Given the description of an element on the screen output the (x, y) to click on. 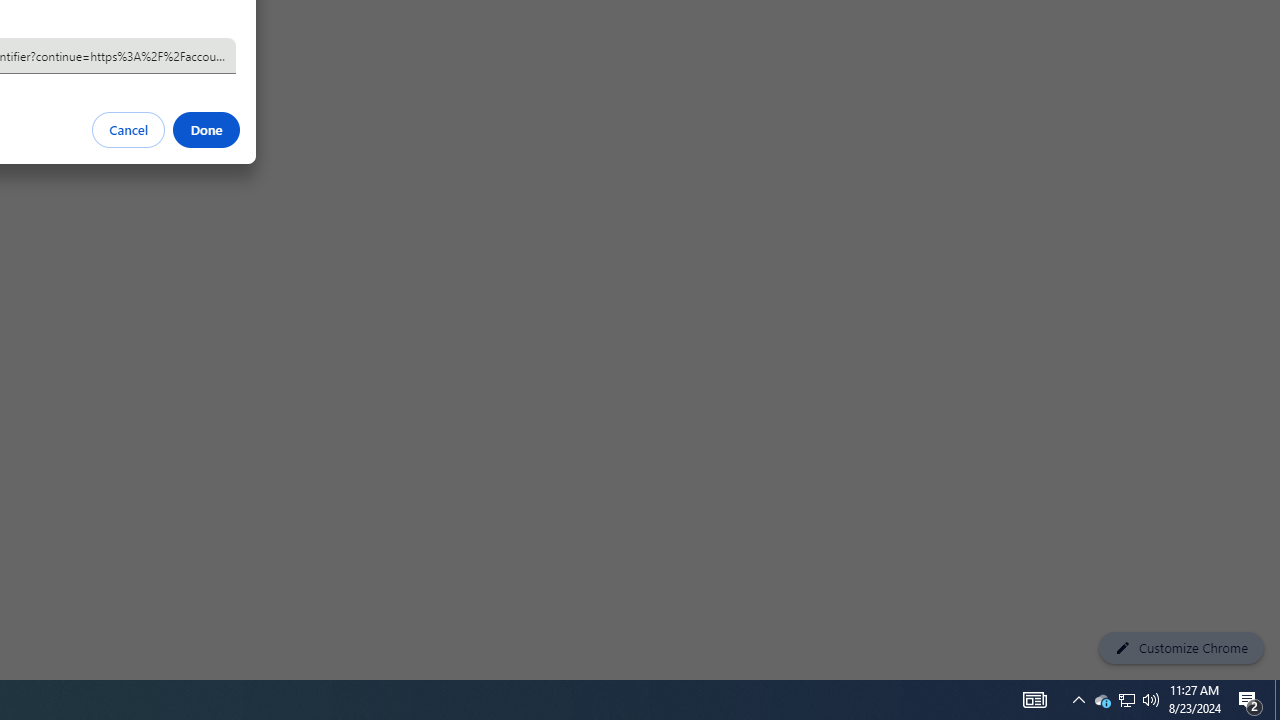
Done (206, 130)
Cancel (129, 130)
